Given the description of an element on the screen output the (x, y) to click on. 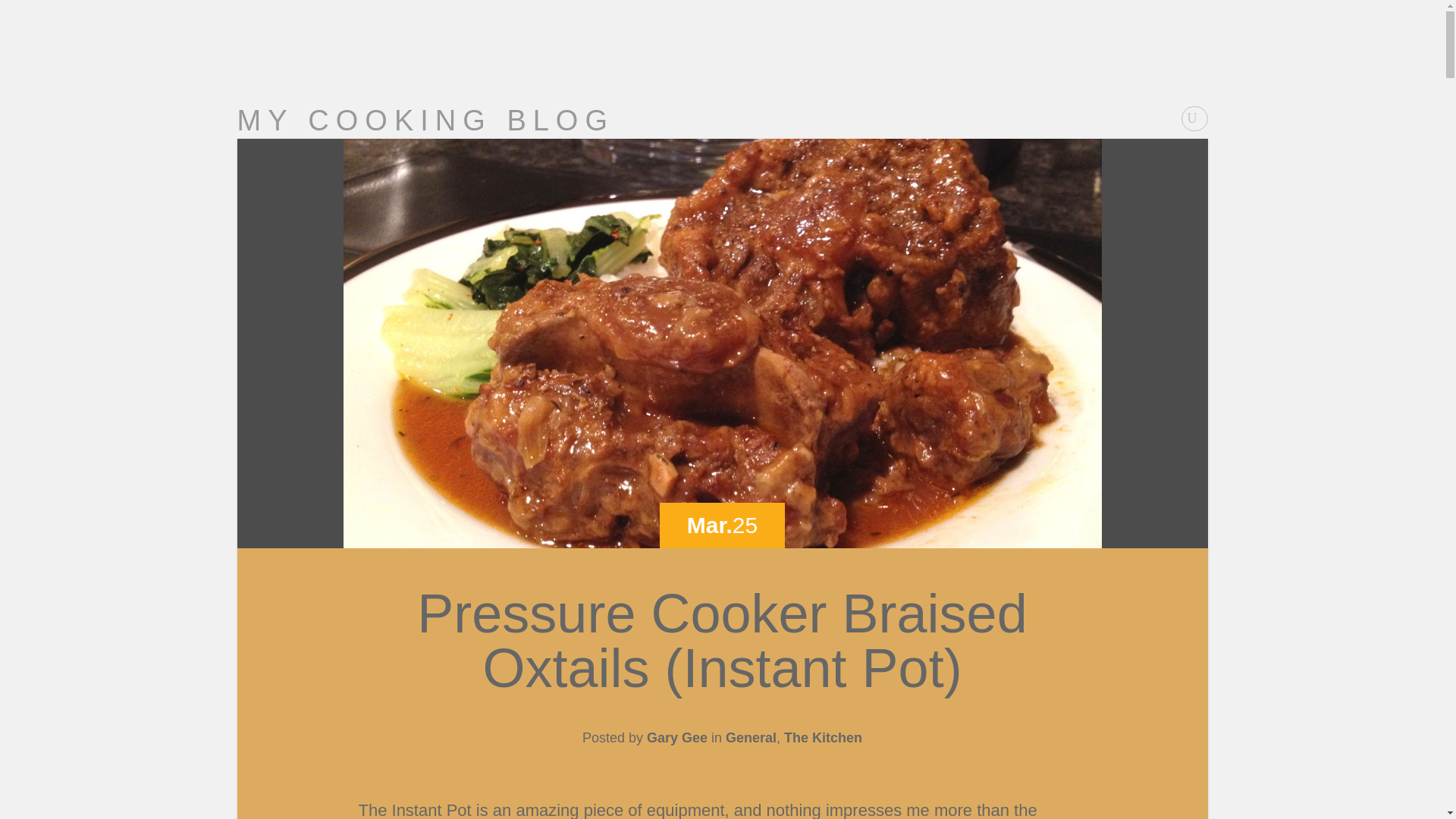
MY COOKING BLOG (423, 120)
Posts by Gary Gee (676, 737)
The Kitchen (822, 737)
Gary Gee (676, 737)
Search (21, 7)
General (750, 737)
